Given the description of an element on the screen output the (x, y) to click on. 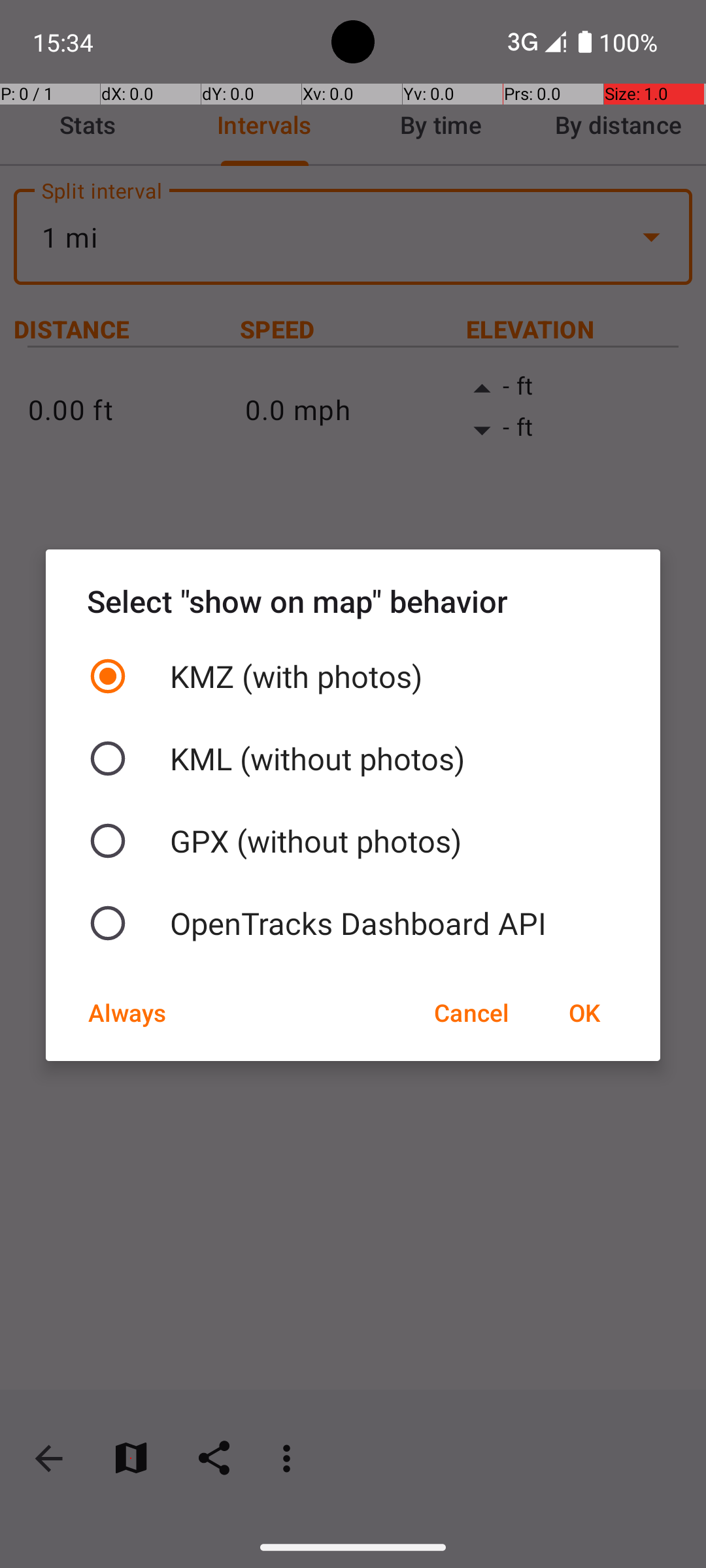
Select "show on map" behavior Element type: android.widget.TextView (352, 600)
KMZ (with photos) Element type: android.widget.CheckedTextView (352, 676)
KML (without photos) Element type: android.widget.CheckedTextView (352, 758)
GPX (without photos) Element type: android.widget.CheckedTextView (352, 840)
OpenTracks Dashboard API Element type: android.widget.CheckedTextView (352, 923)
